Given the description of an element on the screen output the (x, y) to click on. 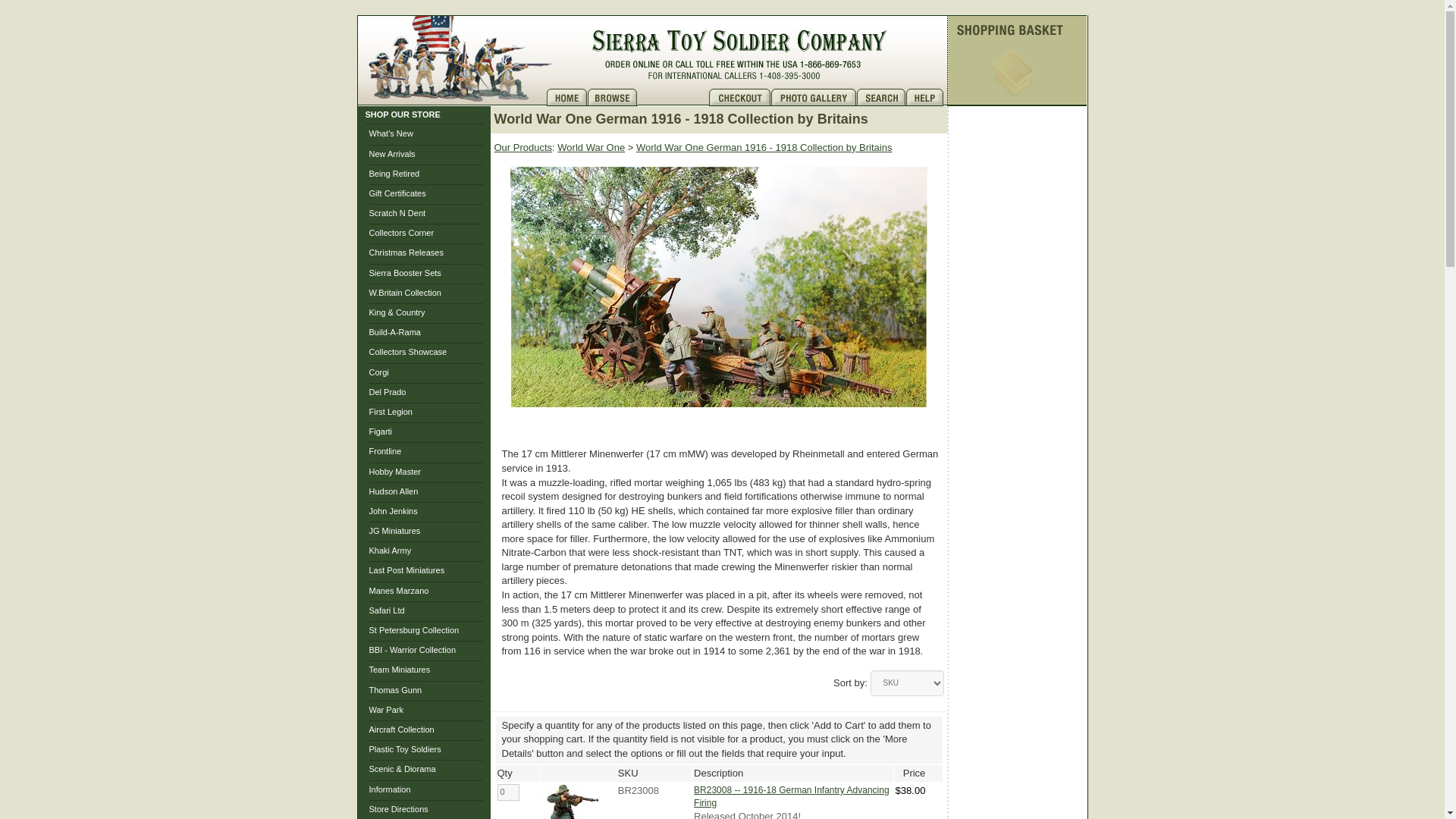
Build-A-Rama (394, 331)
Help (925, 97)
Home (566, 97)
W.Britain Collection (404, 292)
Sierra Booster Sets (404, 272)
Corgi (378, 371)
Christmas Releases (405, 252)
Manes Marzano (398, 590)
SHOP OUR STORE (403, 113)
My Account (672, 97)
